Given the description of an element on the screen output the (x, y) to click on. 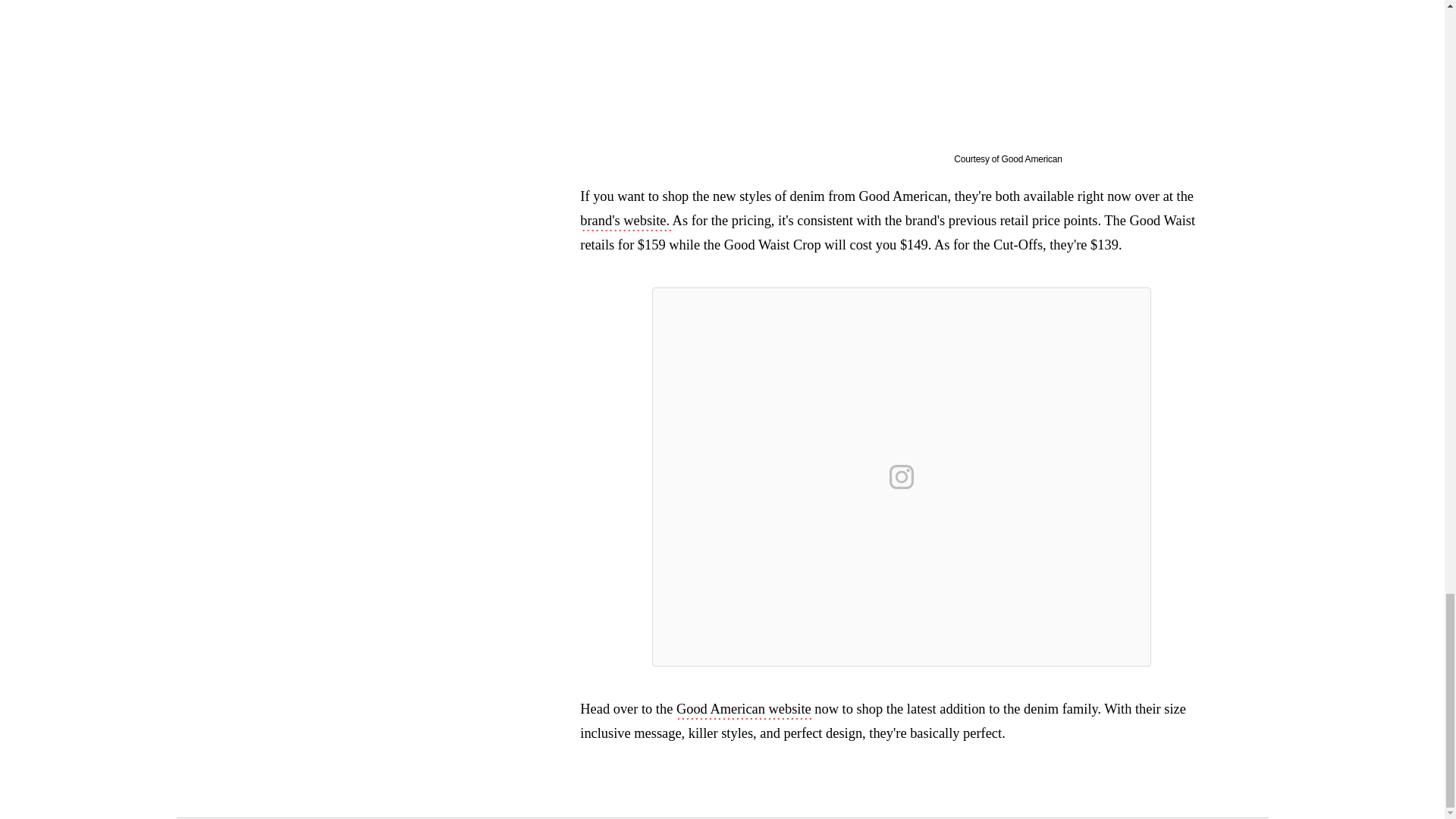
brand's website. (625, 221)
Good American website (743, 710)
View on Instagram (901, 476)
